Given the description of an element on the screen output the (x, y) to click on. 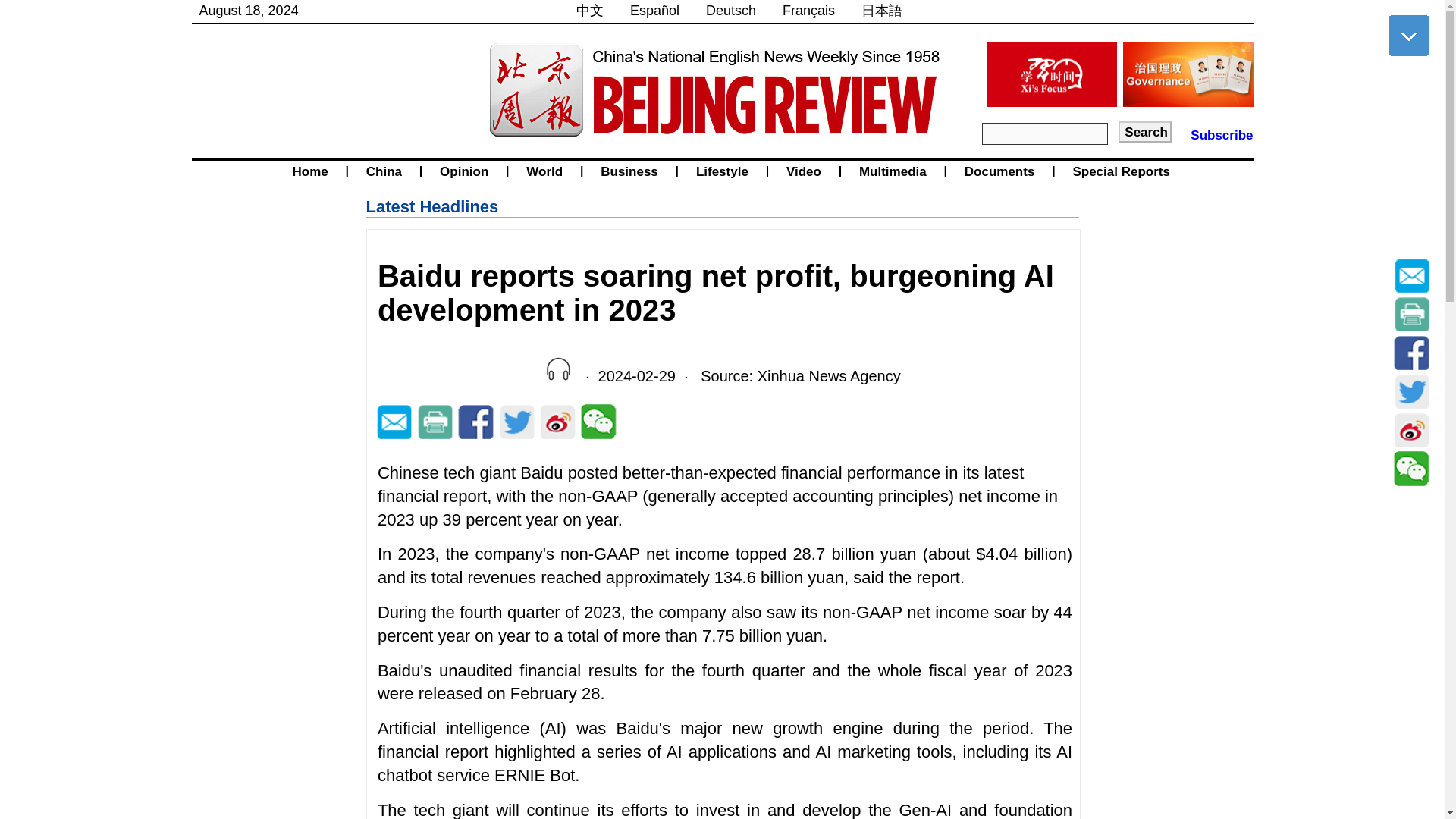
China (384, 171)
Search (1145, 131)
Lifestyle (722, 171)
Home (309, 171)
World (544, 171)
Subscribe (1221, 134)
Search (1145, 131)
Opinion (463, 171)
Latest Headlines (431, 206)
Video (804, 171)
